Given the description of an element on the screen output the (x, y) to click on. 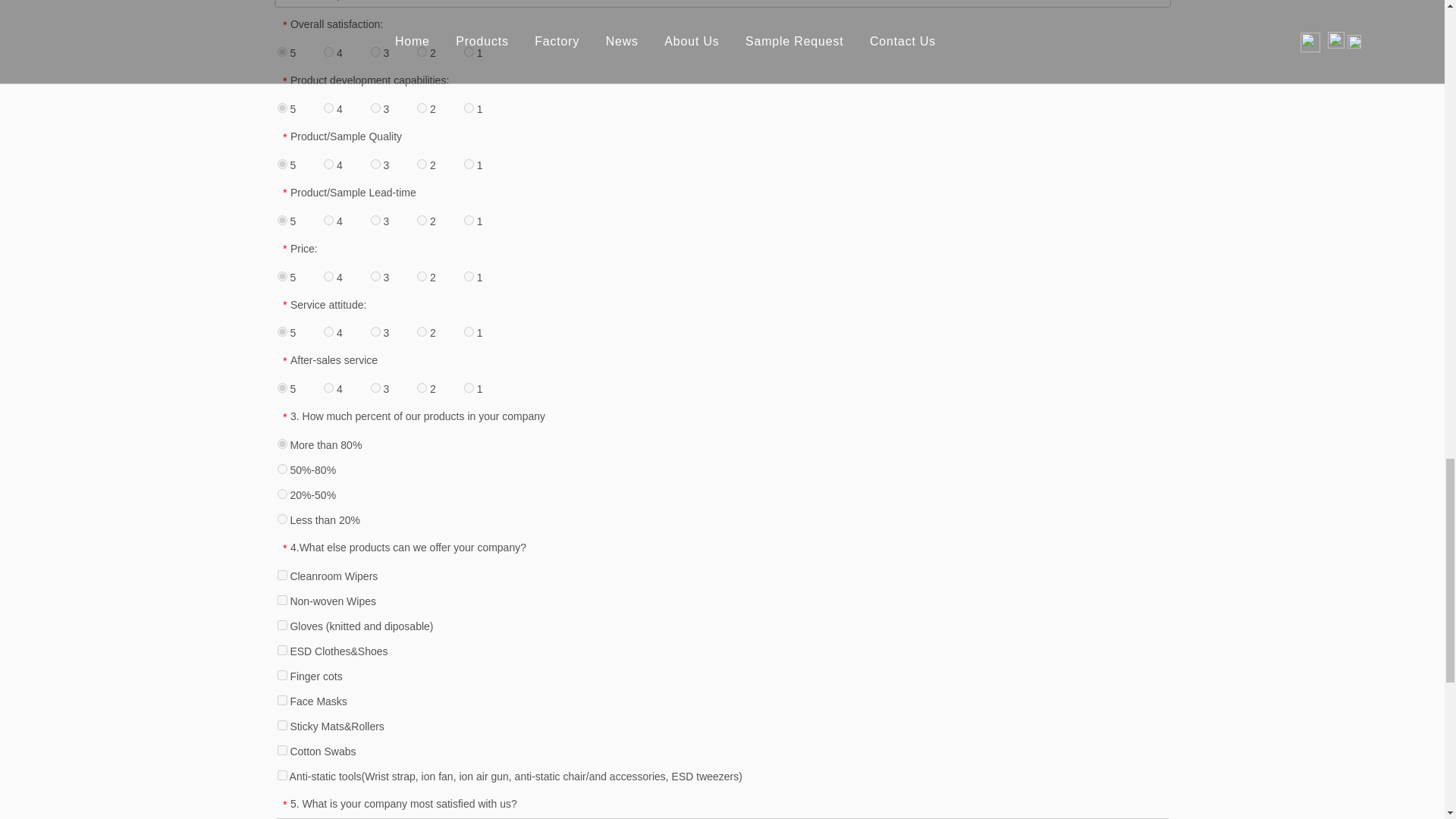
5 (282, 51)
5 (282, 220)
2 (421, 51)
5 (282, 163)
4 (328, 51)
4 (328, 163)
3 (375, 163)
2 (421, 108)
1 (469, 163)
2 (421, 163)
5 (282, 108)
1 (469, 108)
3 (375, 51)
3 (375, 108)
4 (328, 108)
